Given the description of an element on the screen output the (x, y) to click on. 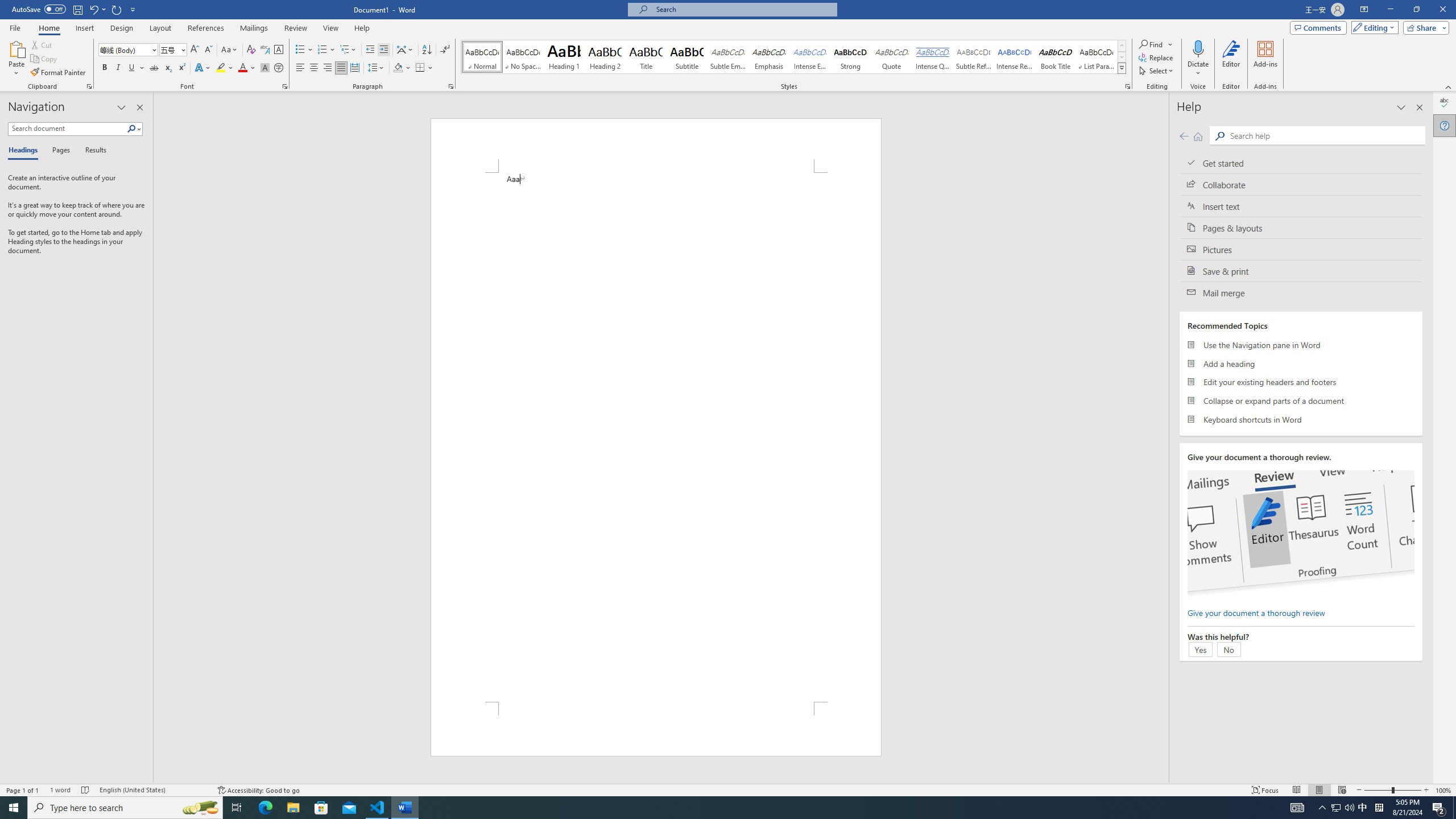
Pages & layouts (1300, 228)
Subtle Emphasis (727, 56)
Font Color Red (241, 67)
Page Number Page 1 of 1 (22, 790)
Save & print (1300, 270)
